Given the description of an element on the screen output the (x, y) to click on. 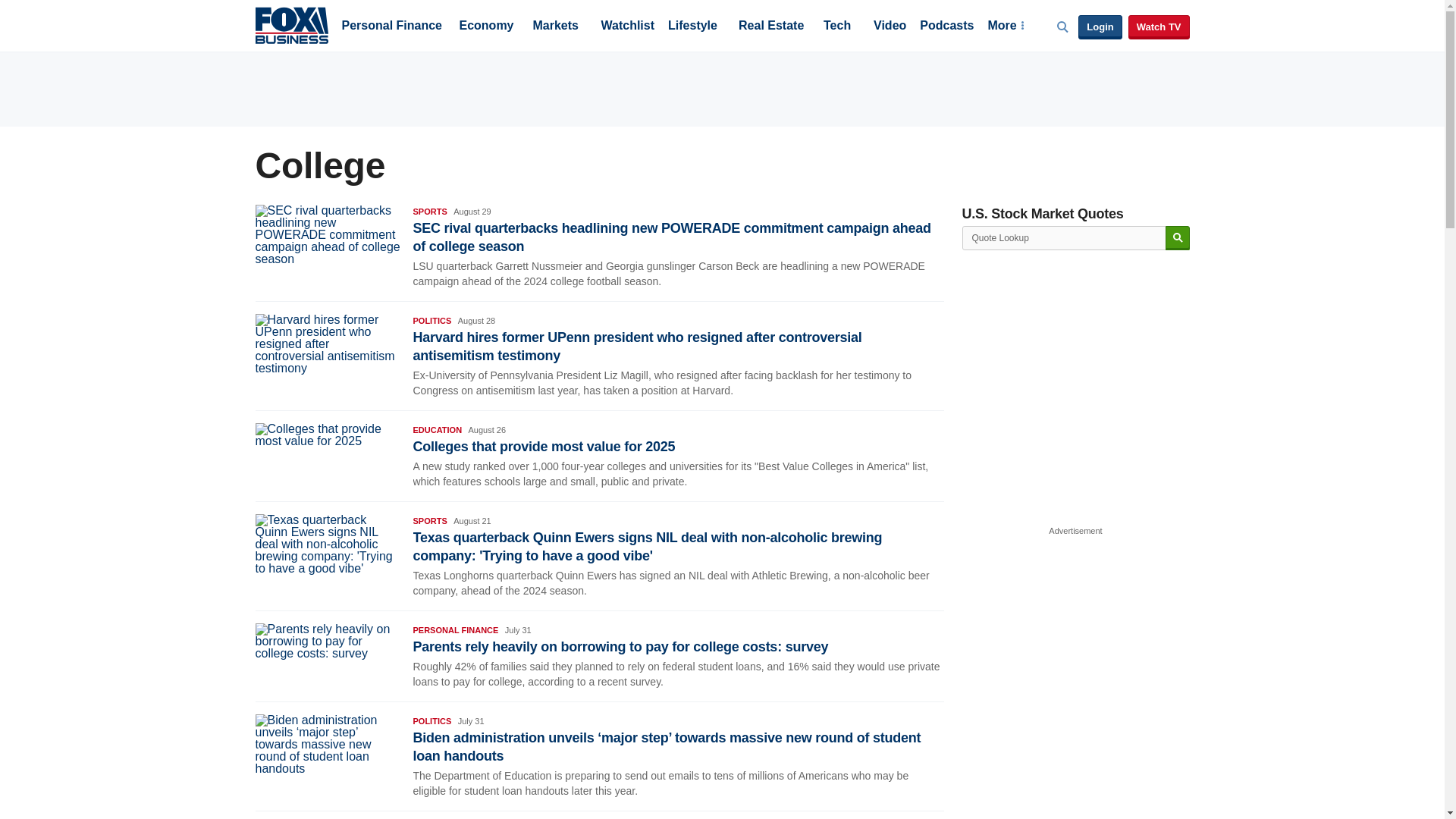
Video (889, 27)
Login (1099, 27)
Markets (555, 27)
Economy (486, 27)
Watchlist (626, 27)
Podcasts (947, 27)
Fox Business (290, 24)
Watch TV (1158, 27)
Real Estate (770, 27)
Search (1176, 238)
